Given the description of an element on the screen output the (x, y) to click on. 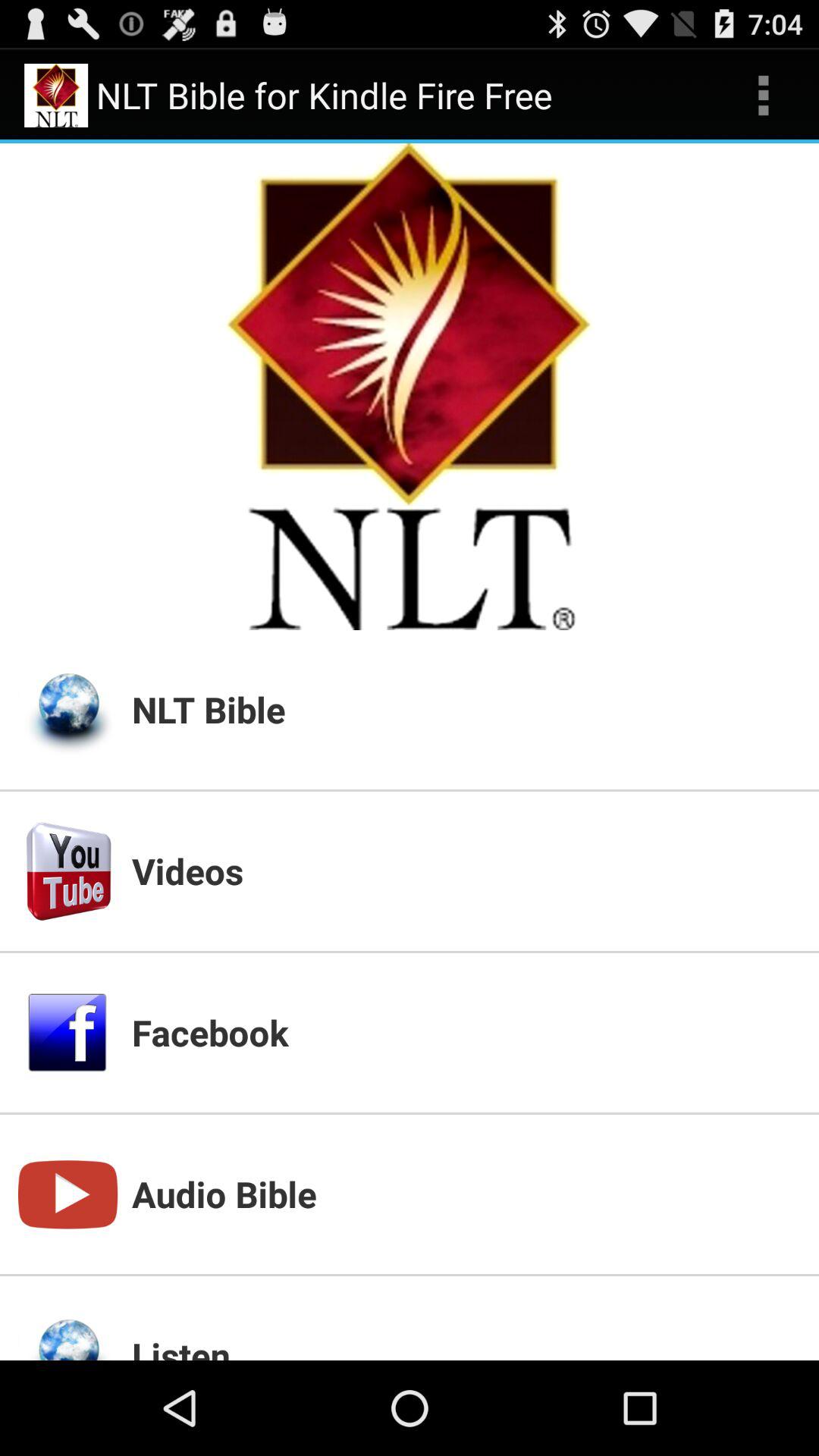
choose videos item (465, 870)
